Given the description of an element on the screen output the (x, y) to click on. 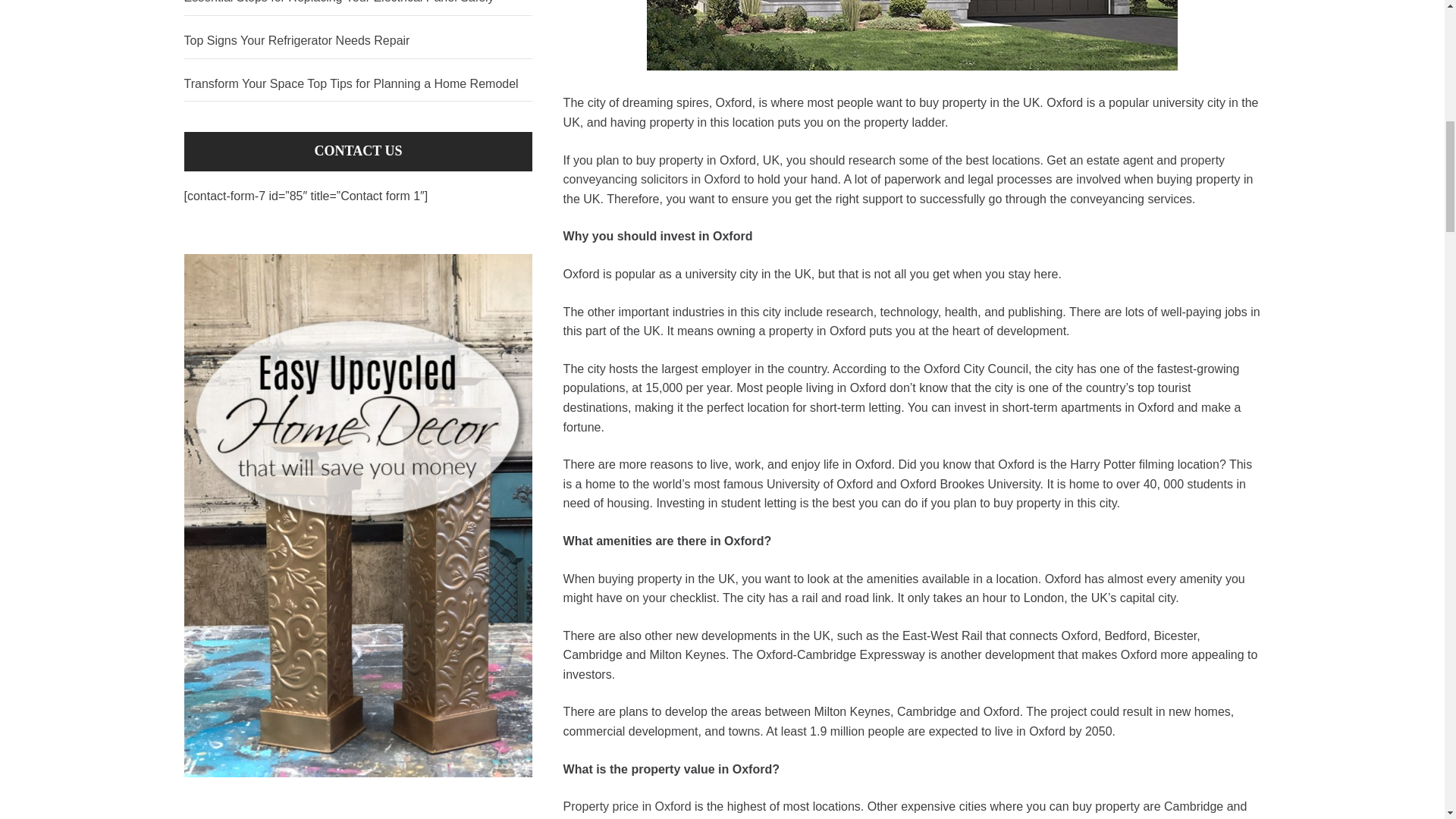
Property price in Oxford (627, 806)
Essential Steps for Replacing Your Electrical Panel Safely (357, 7)
Transform Your Space Top Tips for Planning a Home Remodel (357, 84)
property conveyancing solicitors in Oxford (894, 169)
Top Signs Your Refrigerator Needs Repair (357, 40)
